Given the description of an element on the screen output the (x, y) to click on. 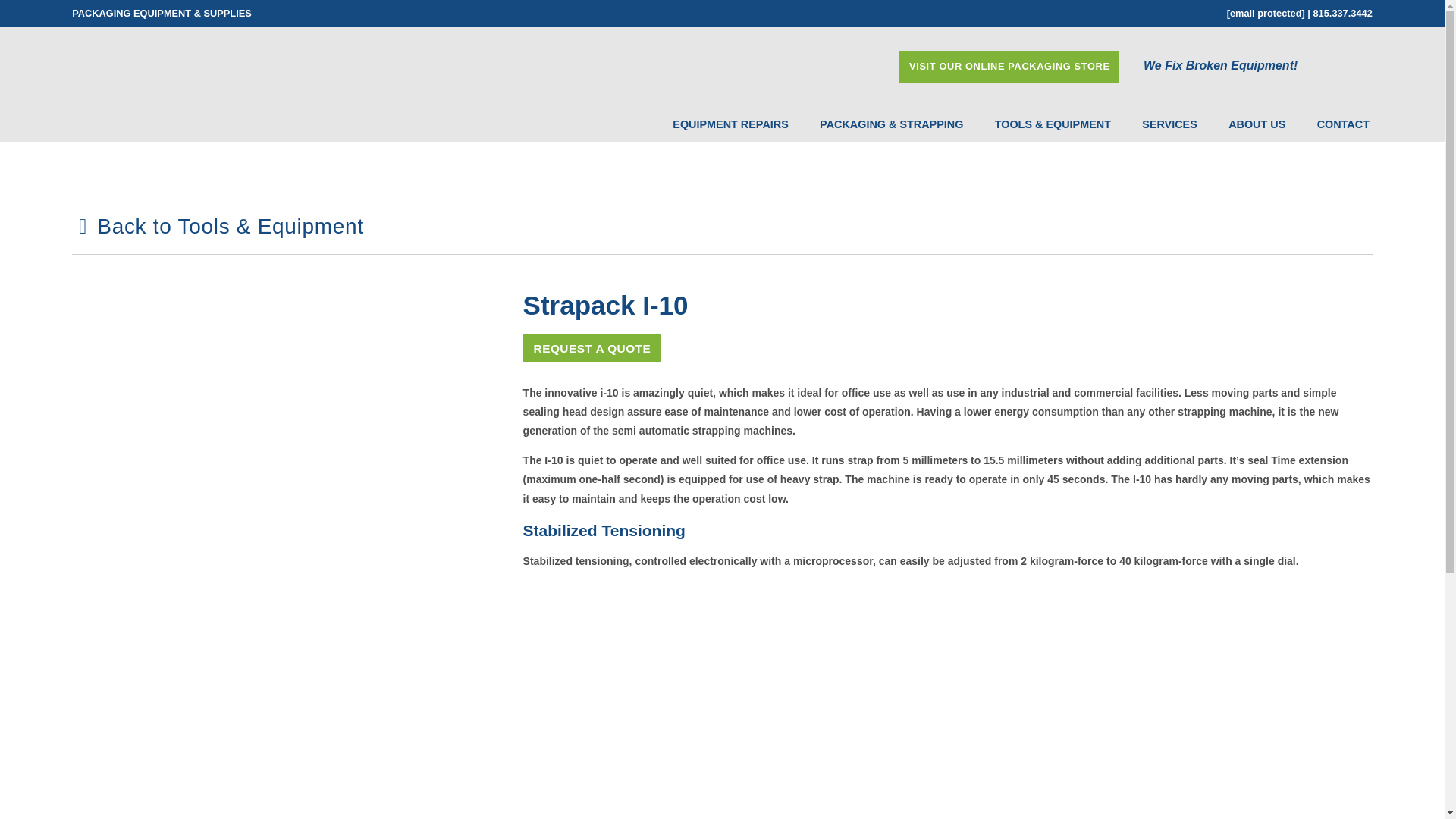
CONTACT (1330, 124)
VISIT OUR ONLINE PACKAGING STORE (1009, 66)
EQUIPMENT REPAIRS (718, 124)
815.337.3442 (1342, 12)
REQUEST A QUOTE (591, 347)
We Fix Broken Equipment! (1257, 65)
SERVICES (1156, 124)
ABOUT US (1243, 124)
